Given the description of an element on the screen output the (x, y) to click on. 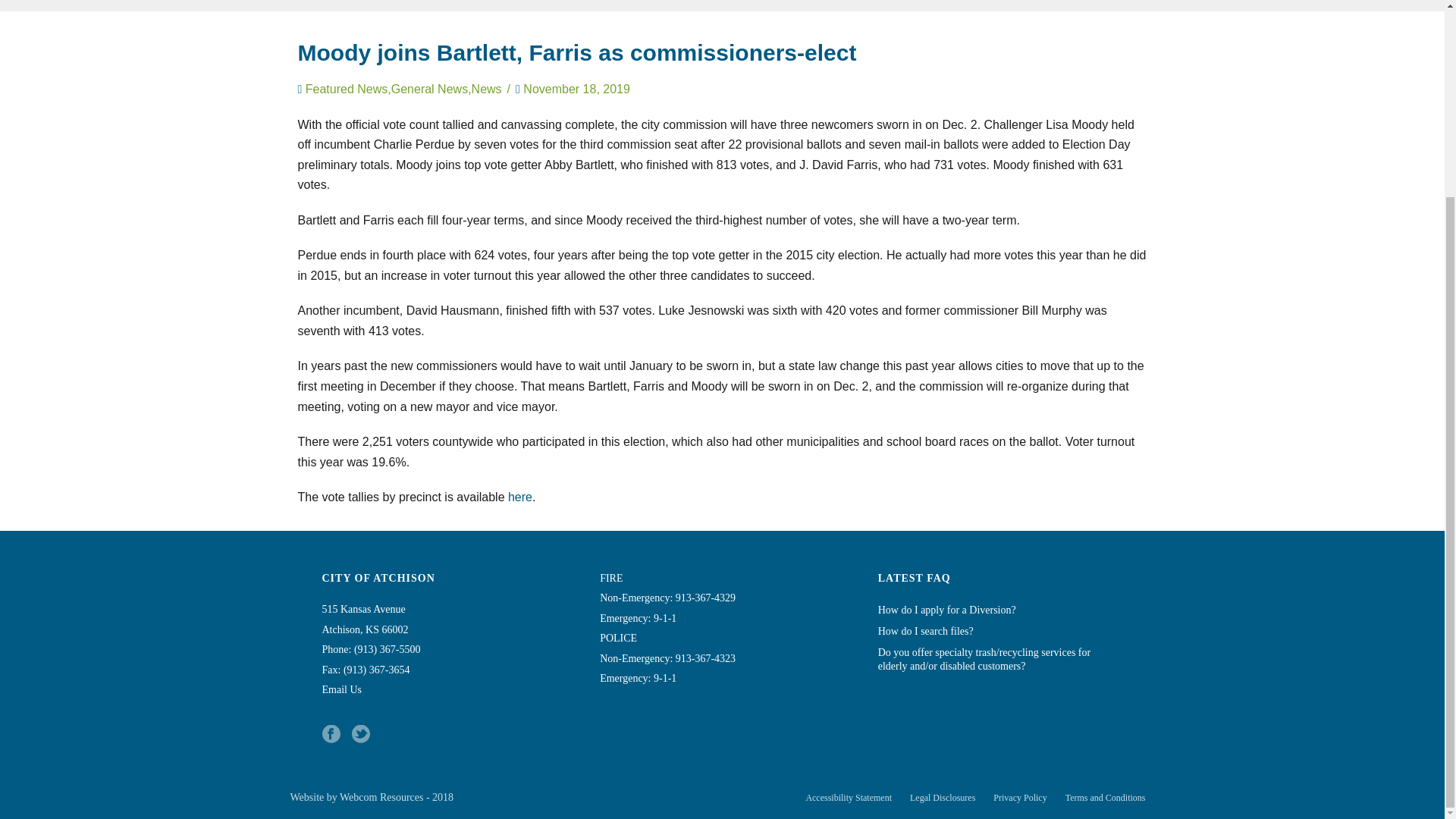
8:27 PM (576, 89)
Follow Us on facebook (330, 734)
8:27 PM (576, 88)
Follow Us on twitter (360, 734)
